Given the description of an element on the screen output the (x, y) to click on. 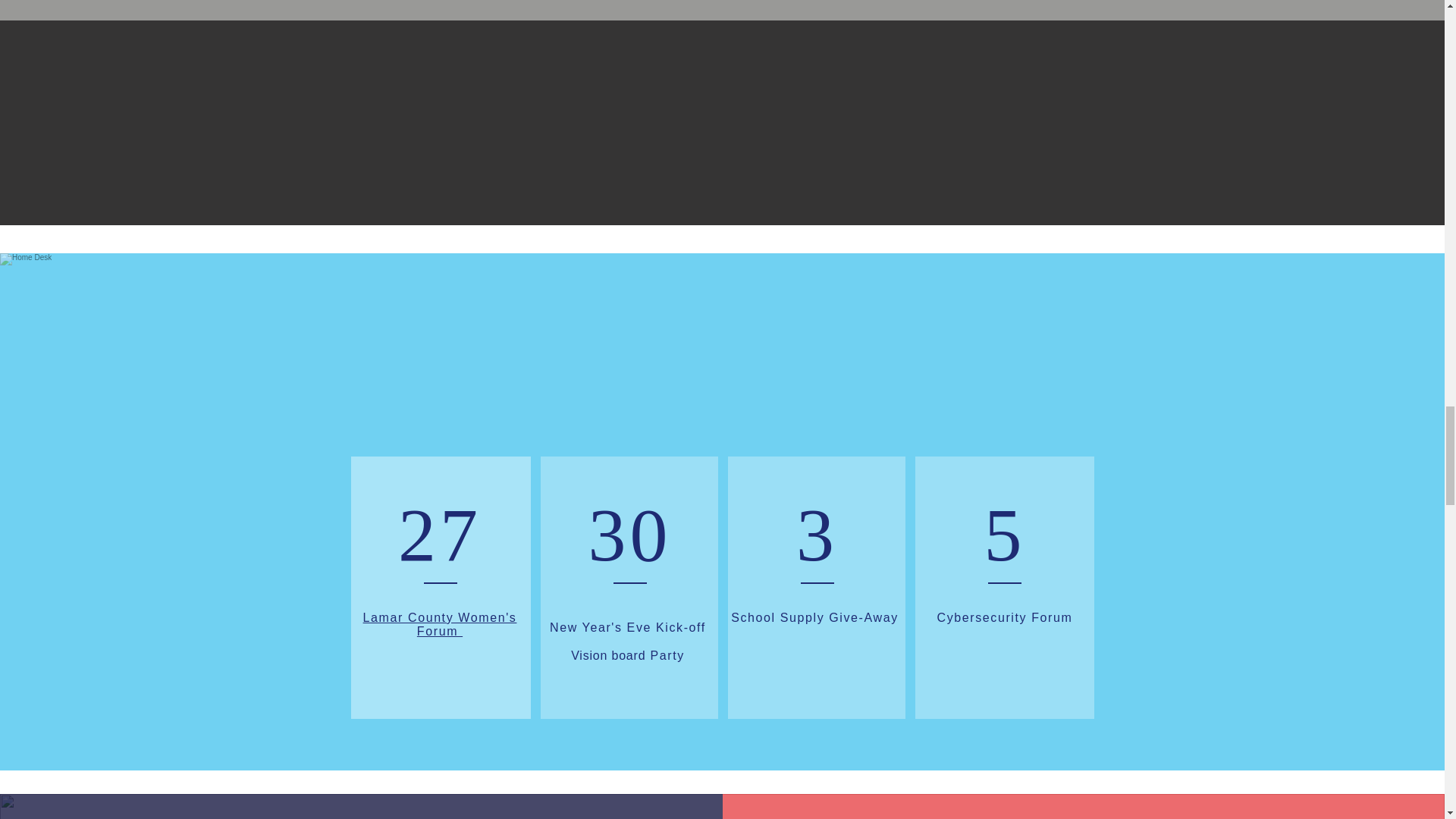
Lamar County Women's Forum  (439, 624)
